Given the description of an element on the screen output the (x, y) to click on. 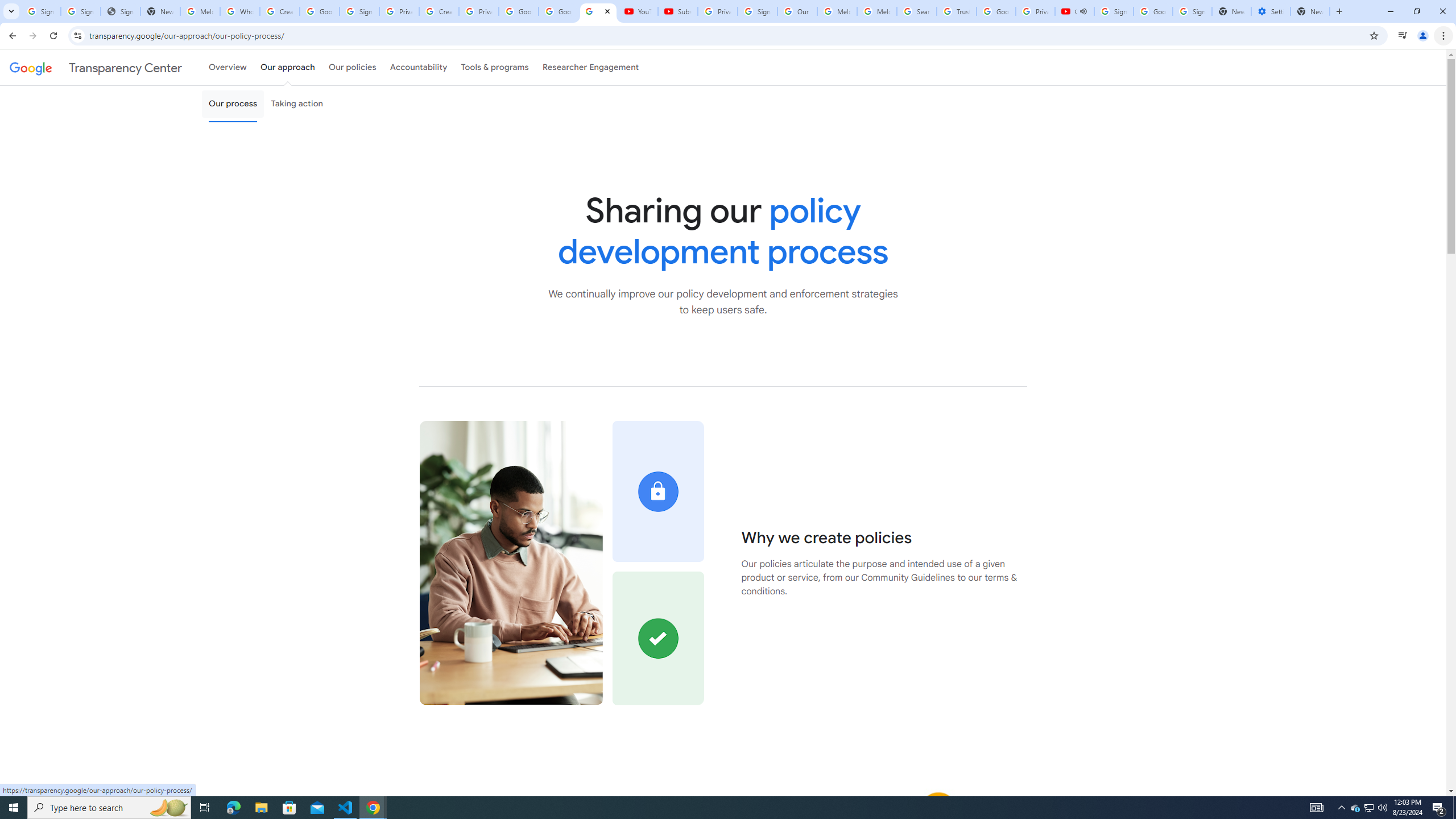
YouTube (637, 11)
Sign in - Google Accounts (1192, 11)
Google Account (557, 11)
Sign in - Google Accounts (359, 11)
Taking action (296, 103)
